Given the description of an element on the screen output the (x, y) to click on. 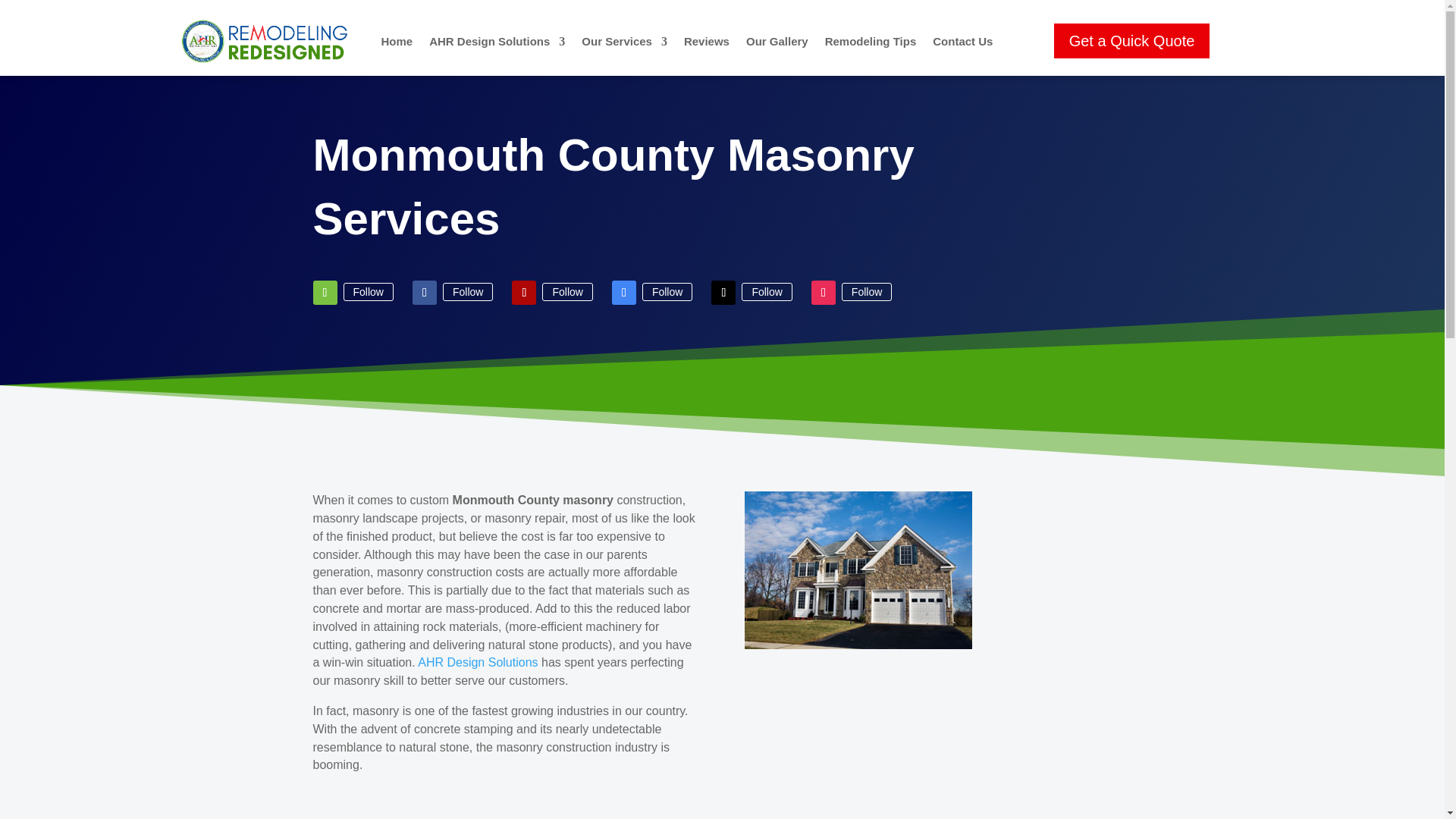
Our Gallery (776, 41)
Follow on Yelp (523, 292)
Home (477, 662)
Yelp (566, 291)
Google (667, 291)
Facebook (467, 291)
Contact Us (962, 41)
AHR Design Solutions (496, 41)
Follow on Instagram (822, 292)
Instagram (866, 291)
Follow on X (723, 292)
Follow on Google (623, 292)
Follow on Houzz (324, 292)
Follow on Facebook (424, 292)
Our Services (623, 41)
